Given the description of an element on the screen output the (x, y) to click on. 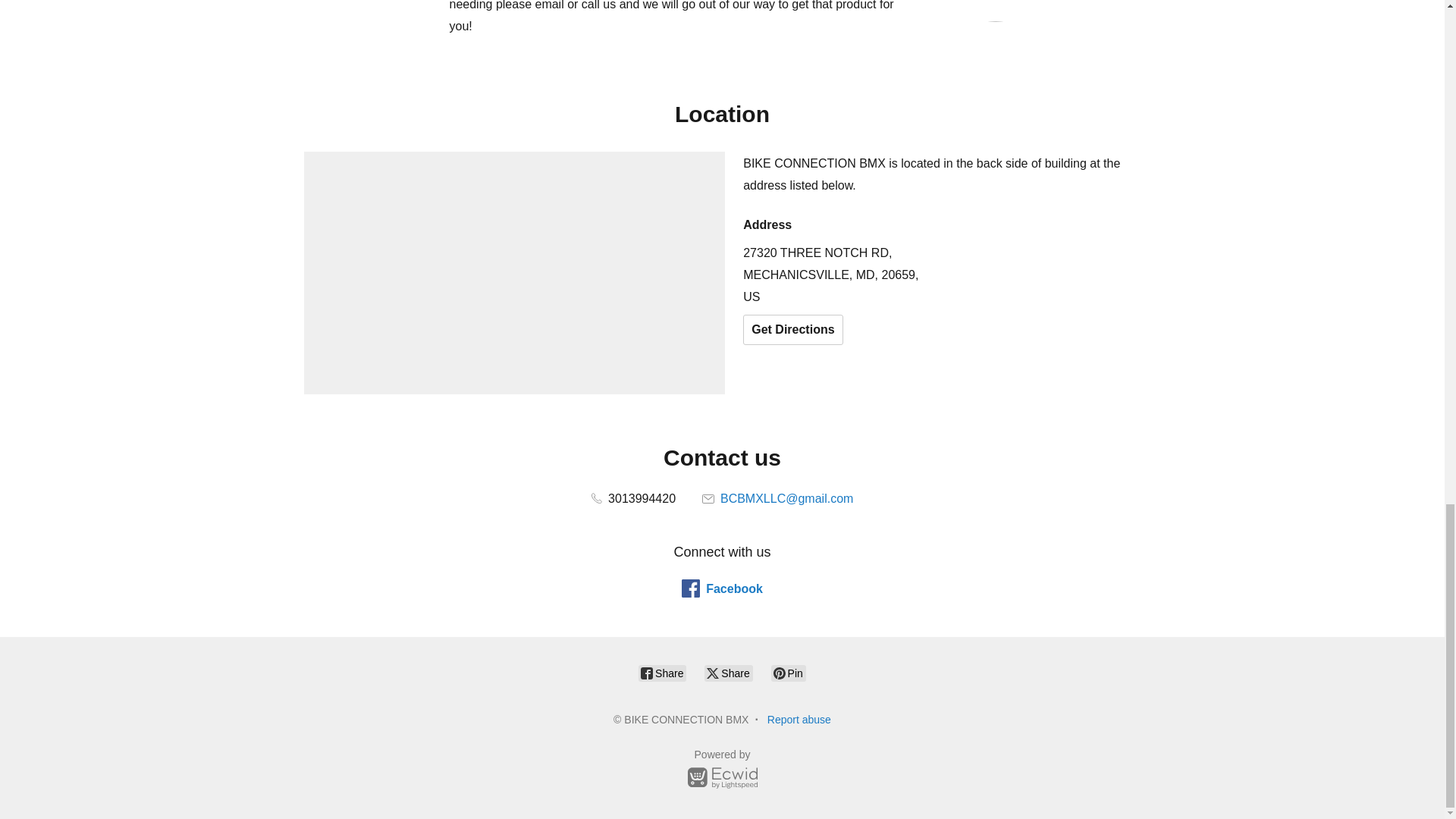
Get Directions (792, 329)
Report abuse (799, 719)
3013994420 (633, 498)
Share (728, 673)
Powered by (722, 771)
Pin (788, 673)
Location on map (513, 272)
Facebook (721, 588)
Share (662, 673)
